Given the description of an element on the screen output the (x, y) to click on. 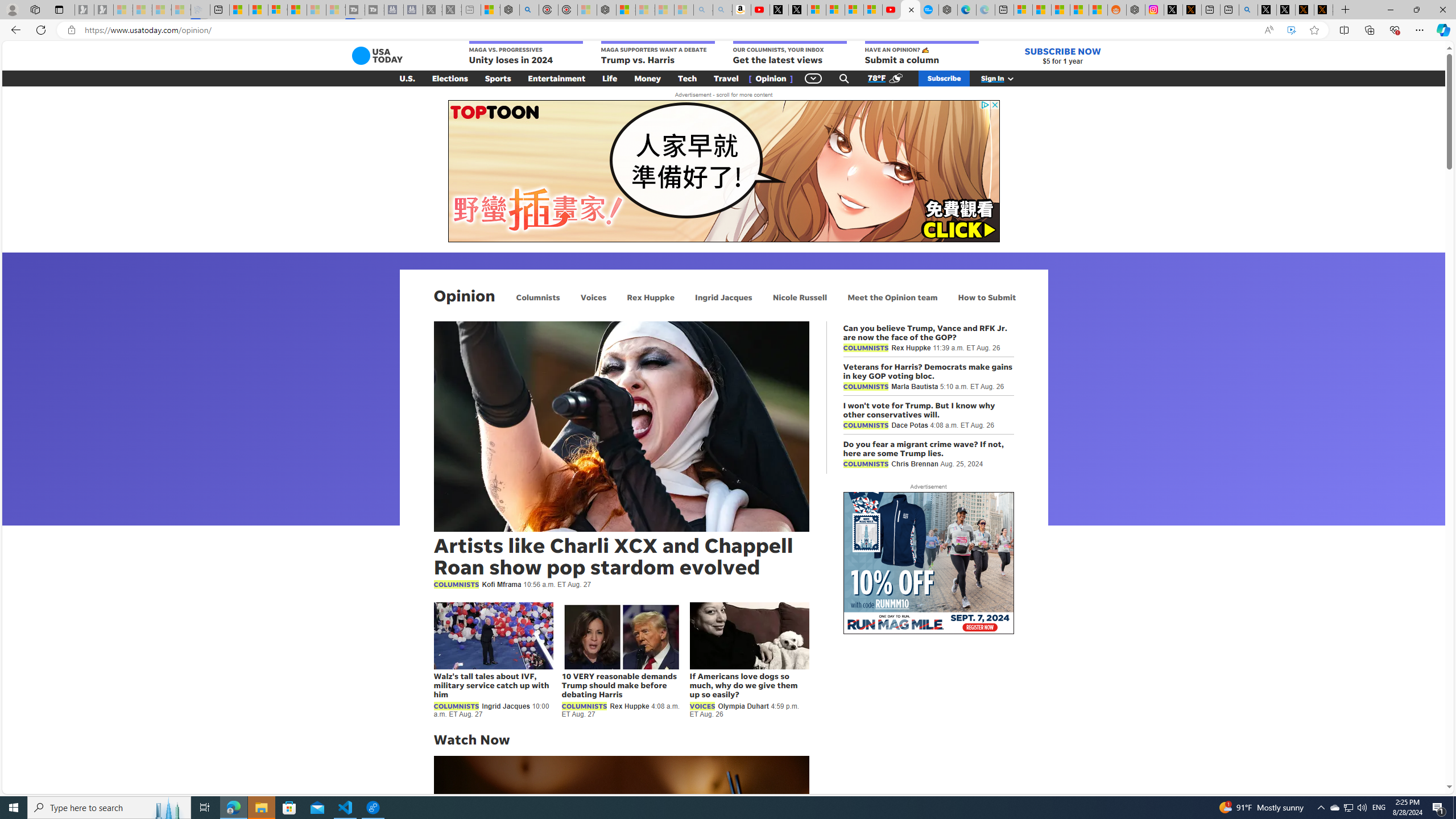
Sports (497, 78)
Sign In (1002, 78)
Class: privacy_out (984, 104)
Voices (593, 296)
Amazon Echo Dot PNG - Search Images - Sleeping (721, 9)
Wildlife - MSN (490, 9)
Streaming Coverage | T3 - Sleeping (354, 9)
